Given the description of an element on the screen output the (x, y) to click on. 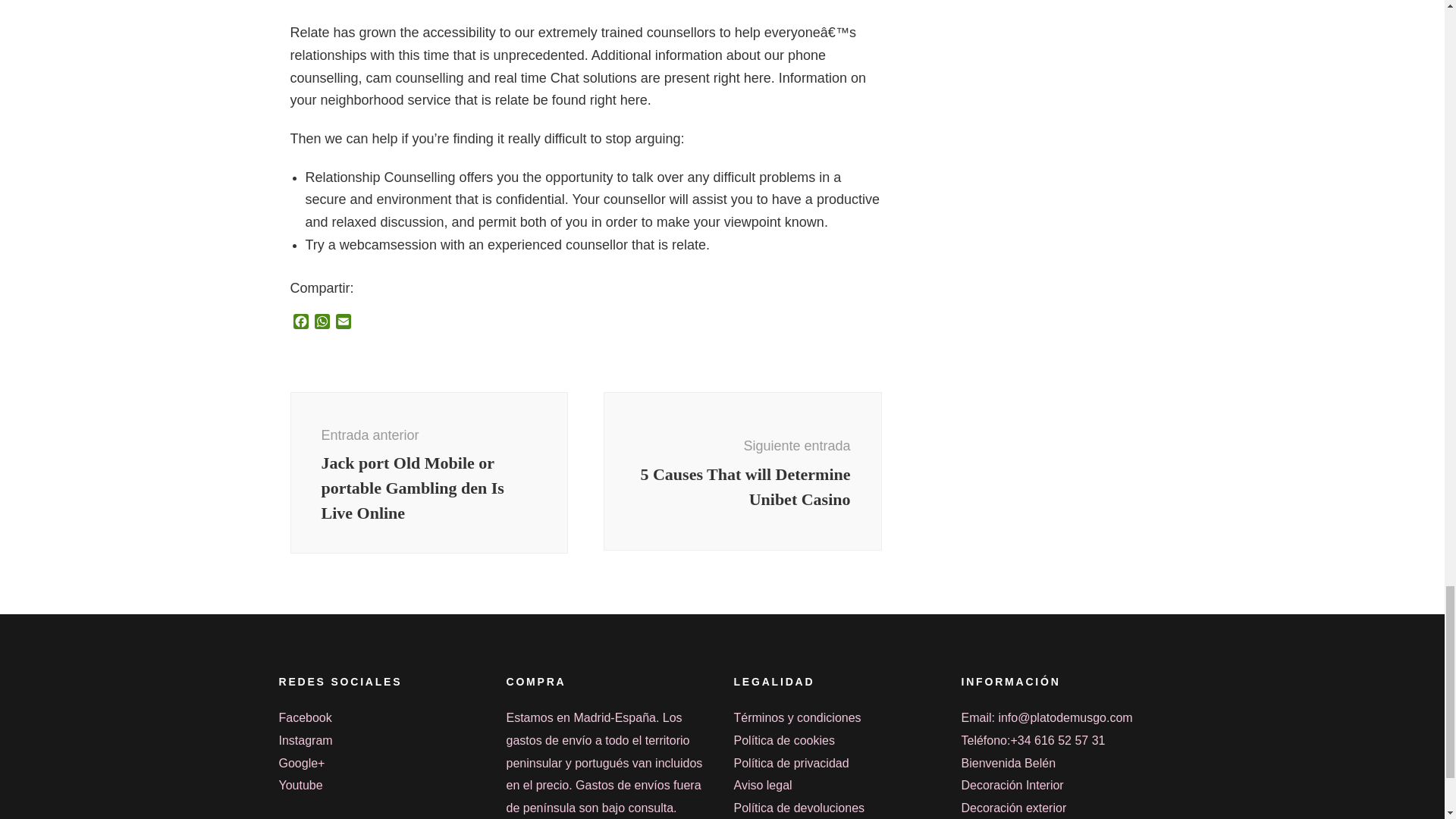
Facebook (300, 322)
Email (342, 322)
WhatsApp (321, 322)
WhatsApp (321, 322)
Facebook (300, 322)
